Given the description of an element on the screen output the (x, y) to click on. 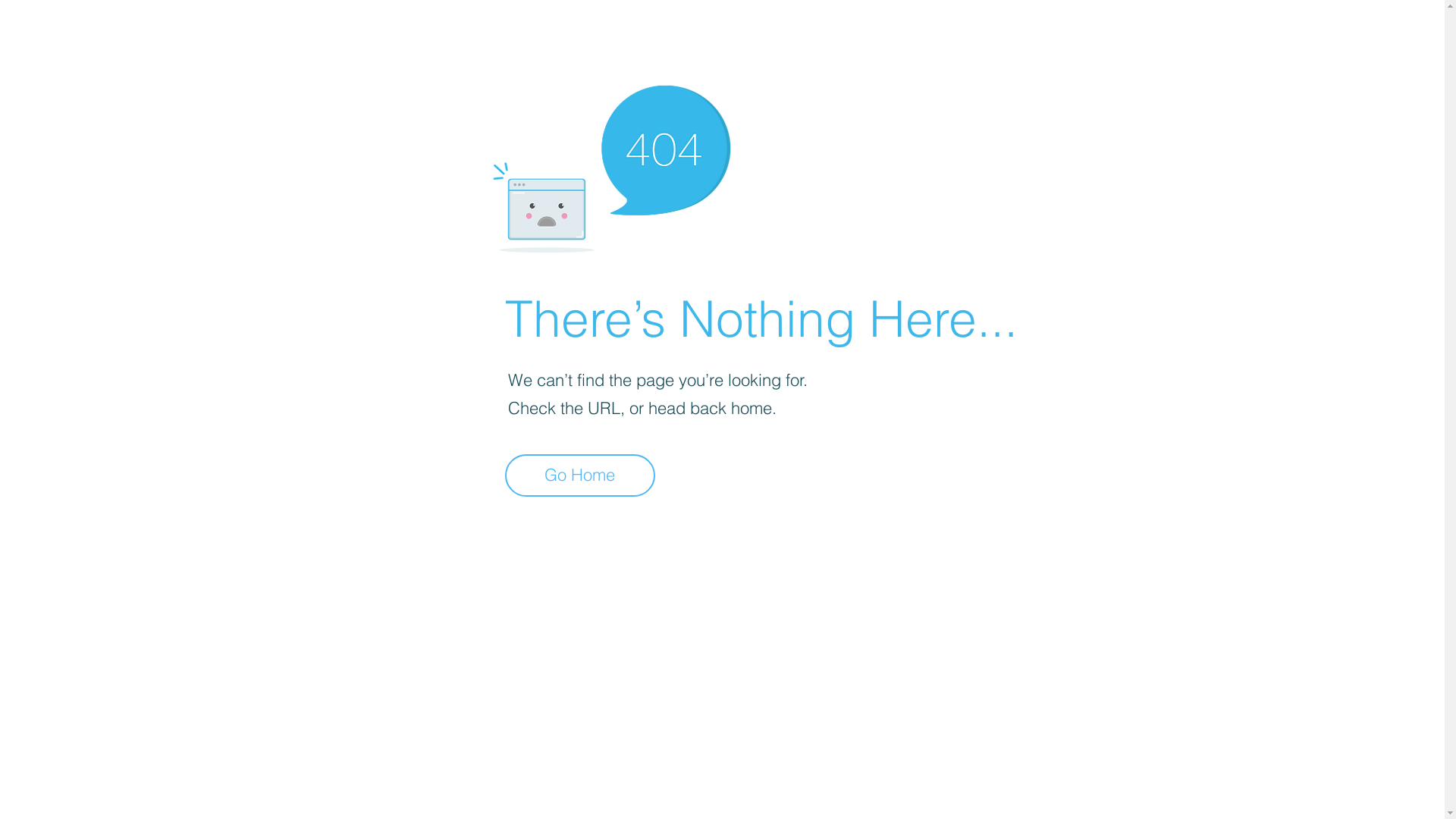
404-icon_2.png Element type: hover (610, 164)
Go Home Element type: text (580, 475)
